Given the description of an element on the screen output the (x, y) to click on. 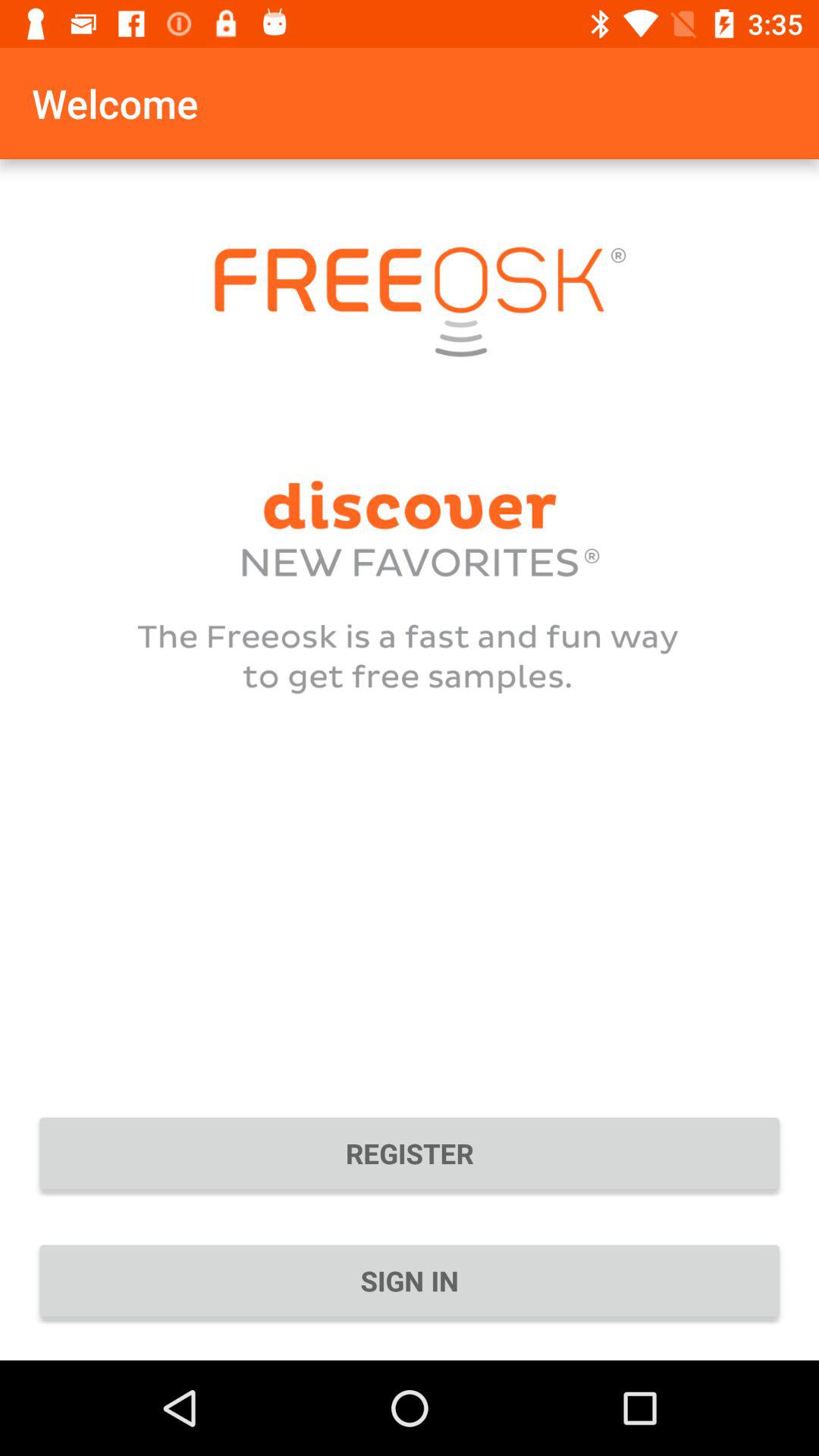
jump to register item (409, 1153)
